Given the description of an element on the screen output the (x, y) to click on. 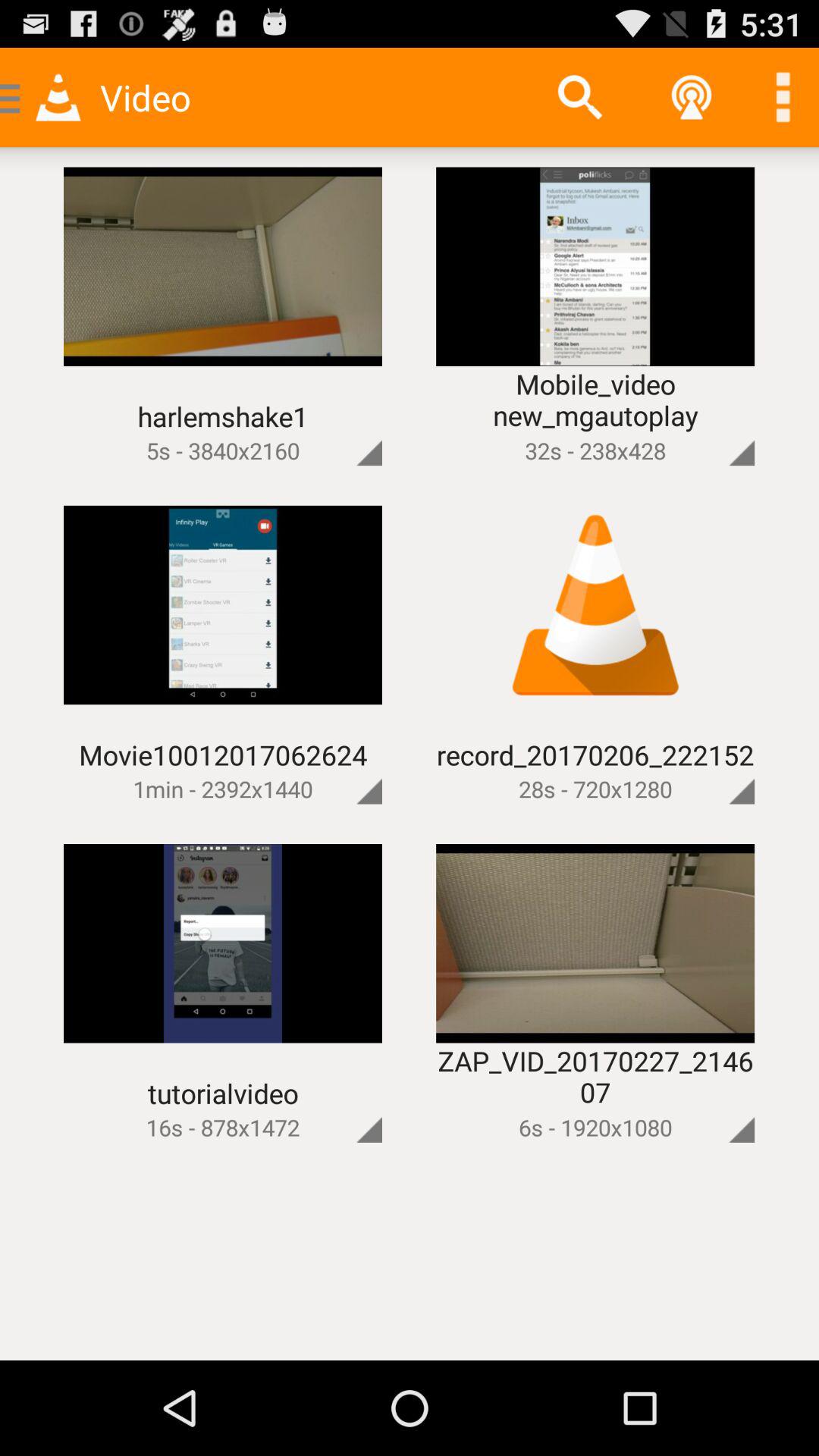
more options (343, 427)
